Given the description of an element on the screen output the (x, y) to click on. 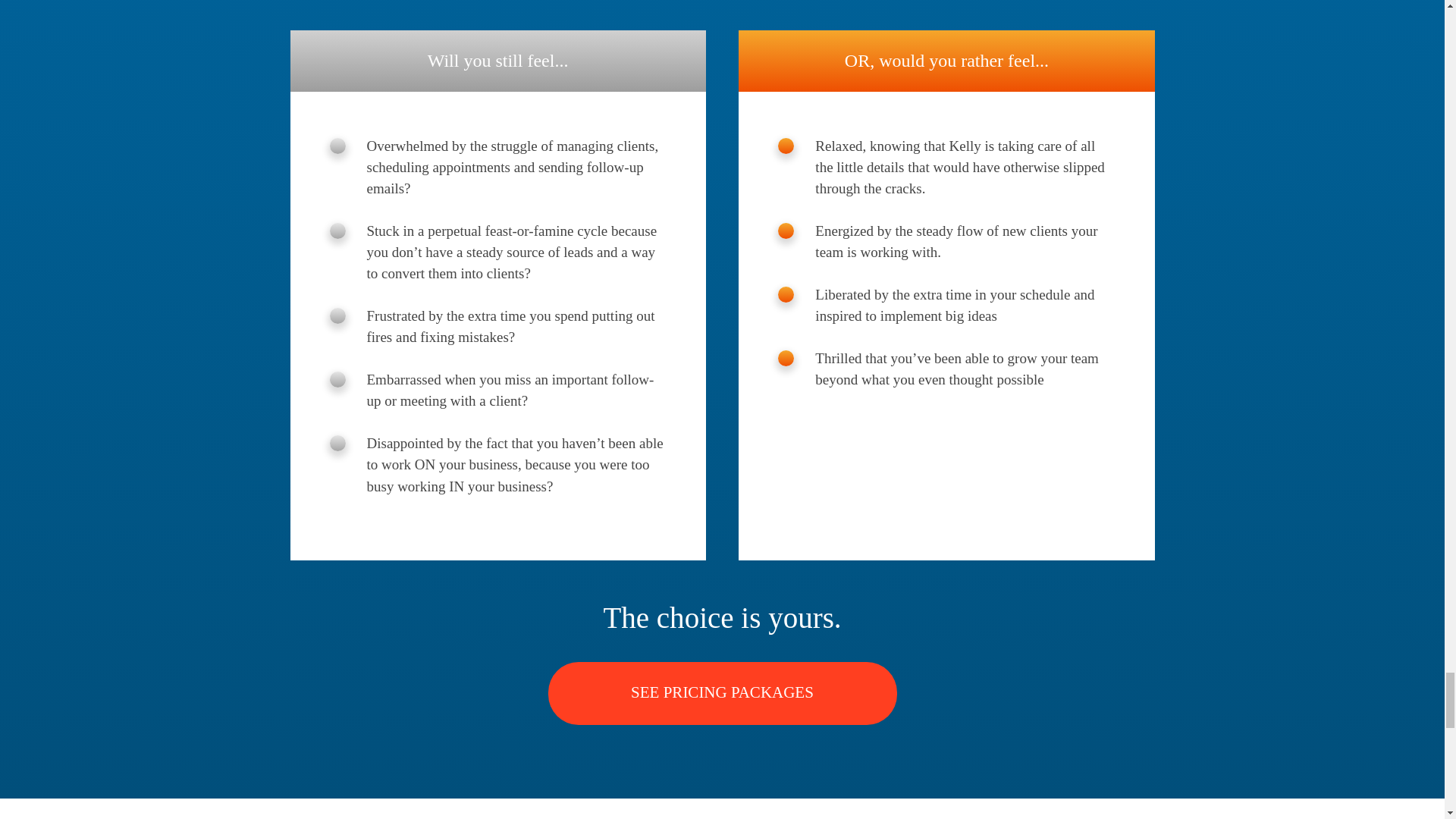
SEE PRICING PACKAGES (721, 692)
